Given the description of an element on the screen output the (x, y) to click on. 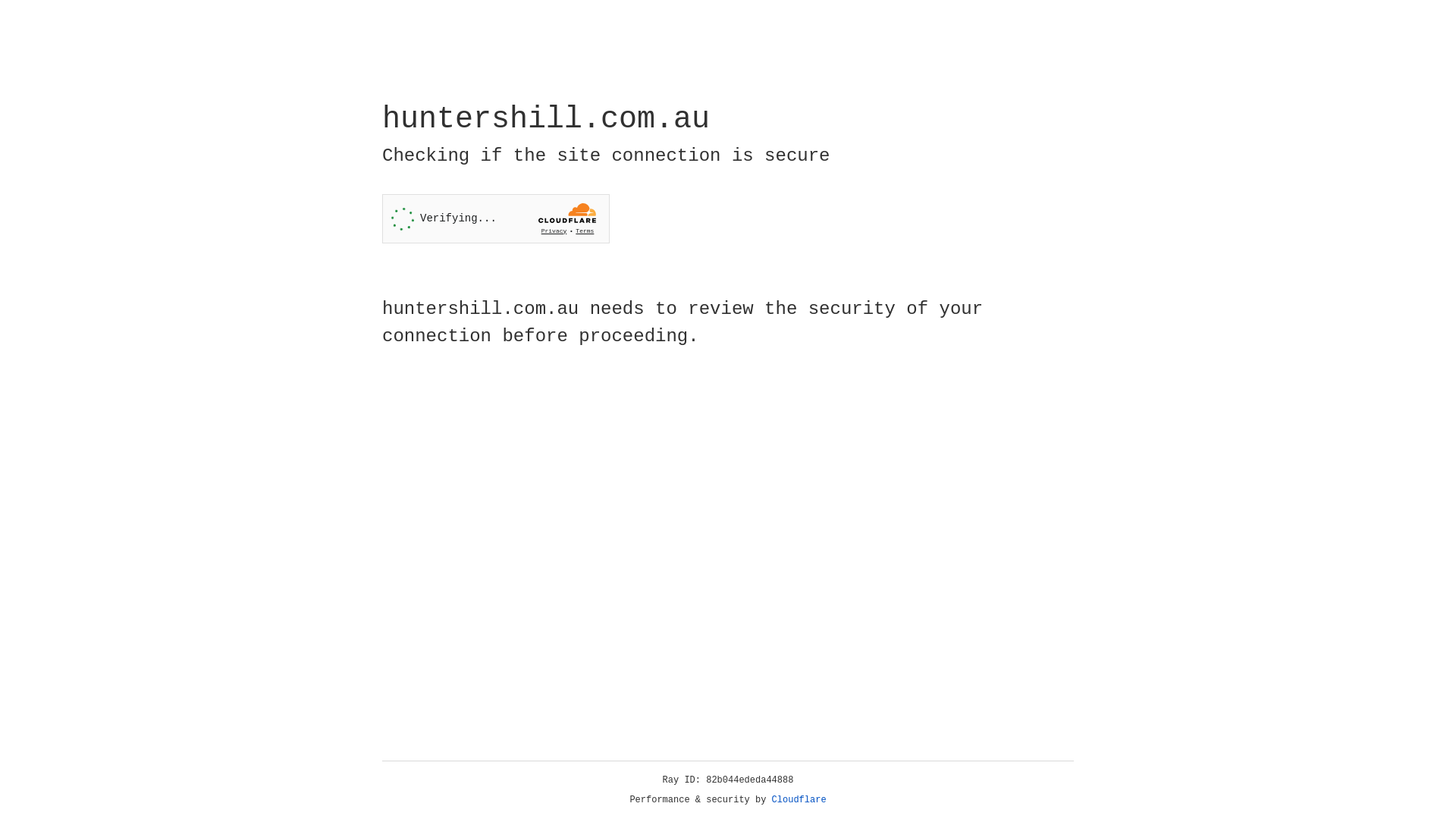
Widget containing a Cloudflare security challenge Element type: hover (495, 218)
Cloudflare Element type: text (798, 799)
